Given the description of an element on the screen output the (x, y) to click on. 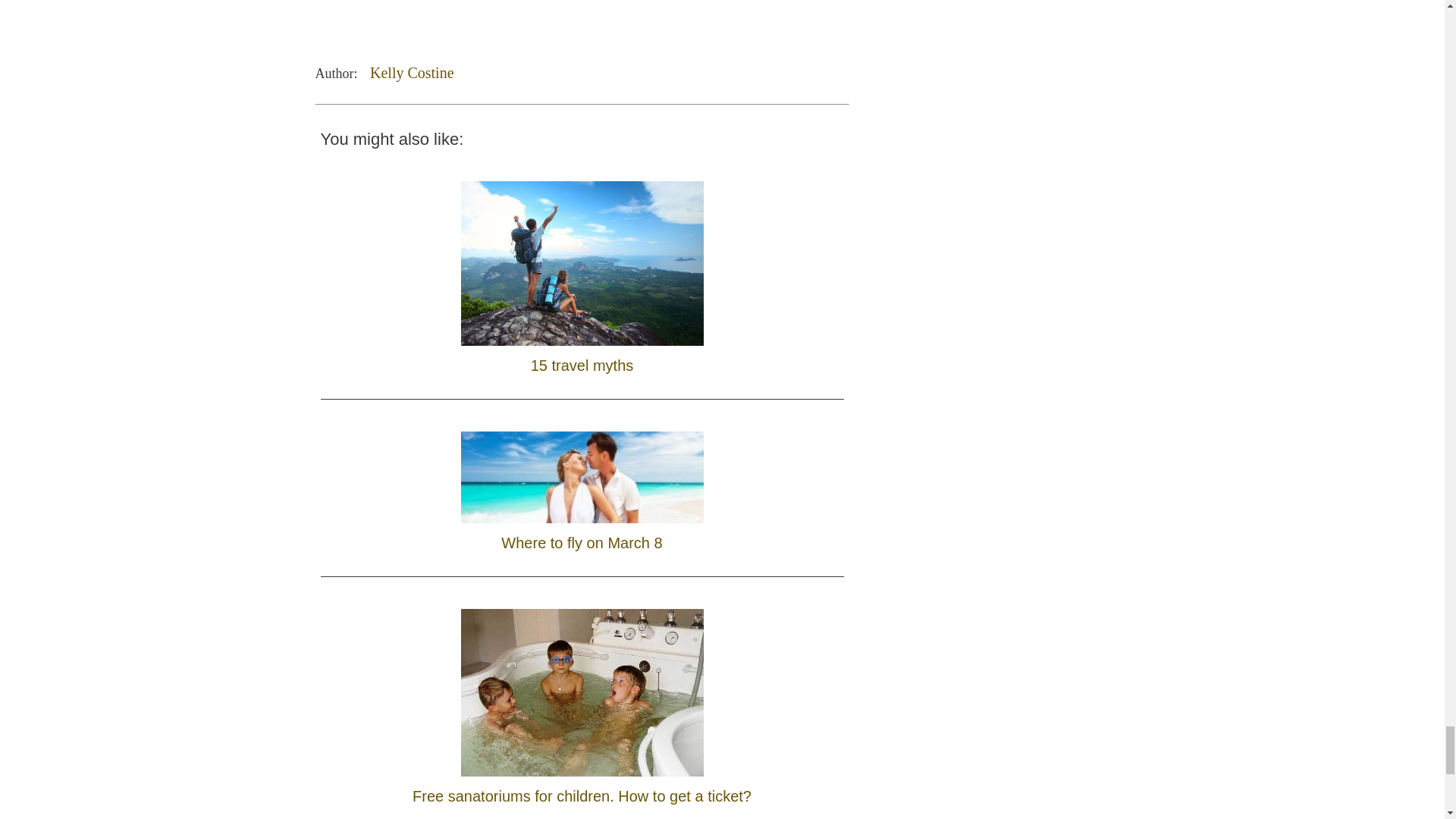
Kelly Costine (412, 72)
Free sanatoriums for children. How to get a ticket? (581, 703)
Where to fly on March 8 (582, 487)
15 travel myths (582, 274)
